Given the description of an element on the screen output the (x, y) to click on. 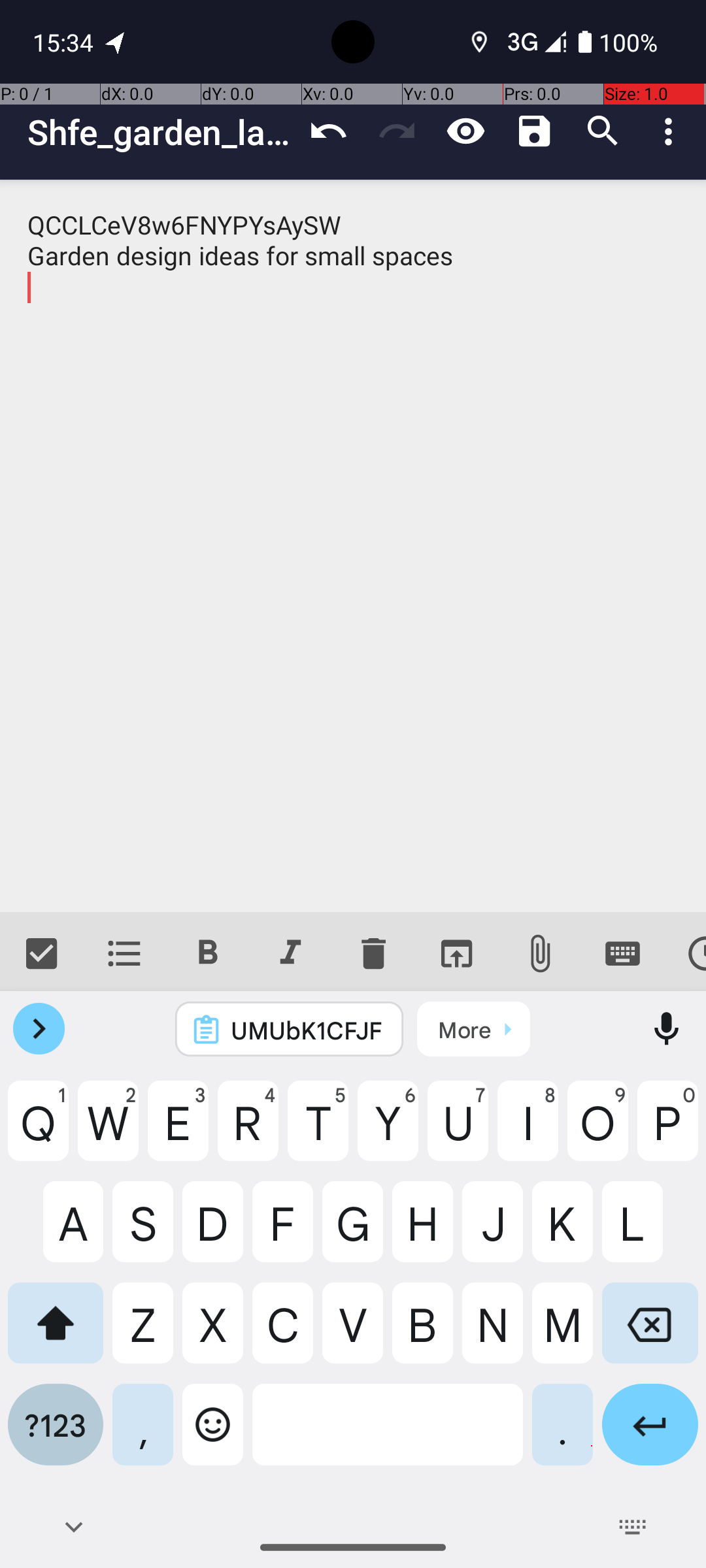
Shfe_garden_layout_plan Element type: android.widget.TextView (160, 131)
QCCLCeV8w6FNYPYsAySW
Garden design ideas for small spaces
 Element type: android.widget.EditText (353, 545)
Q Element type: android.widget.FrameLayout (38, 1130)
E Element type: android.widget.FrameLayout (178, 1130)
R Element type: android.widget.FrameLayout (248, 1130)
Y Element type: android.widget.FrameLayout (387, 1130)
U Element type: android.widget.FrameLayout (457, 1130)
I Element type: android.widget.FrameLayout (527, 1130)
O Element type: android.widget.FrameLayout (597, 1130)
P Element type: android.widget.FrameLayout (667, 1130)
A Element type: android.widget.FrameLayout (55, 1231)
D Element type: android.widget.FrameLayout (212, 1231)
G Element type: android.widget.FrameLayout (352, 1231)
H Element type: android.widget.FrameLayout (422, 1231)
J Element type: android.widget.FrameLayout (492, 1231)
K Element type: android.widget.FrameLayout (562, 1231)
L Element type: android.widget.FrameLayout (649, 1231)
Z Element type: android.widget.FrameLayout (142, 1332)
X Element type: android.widget.FrameLayout (212, 1332)
C Element type: android.widget.FrameLayout (282, 1332)
V Element type: android.widget.FrameLayout (352, 1332)
B Element type: android.widget.FrameLayout (422, 1332)
N Element type: android.widget.FrameLayout (492, 1332)
Click to open Clipboard Element type: android.view.ViewGroup (473, 1028)
UMUbK1CFJF Element type: android.widget.TextView (306, 1029)
